Given the description of an element on the screen output the (x, y) to click on. 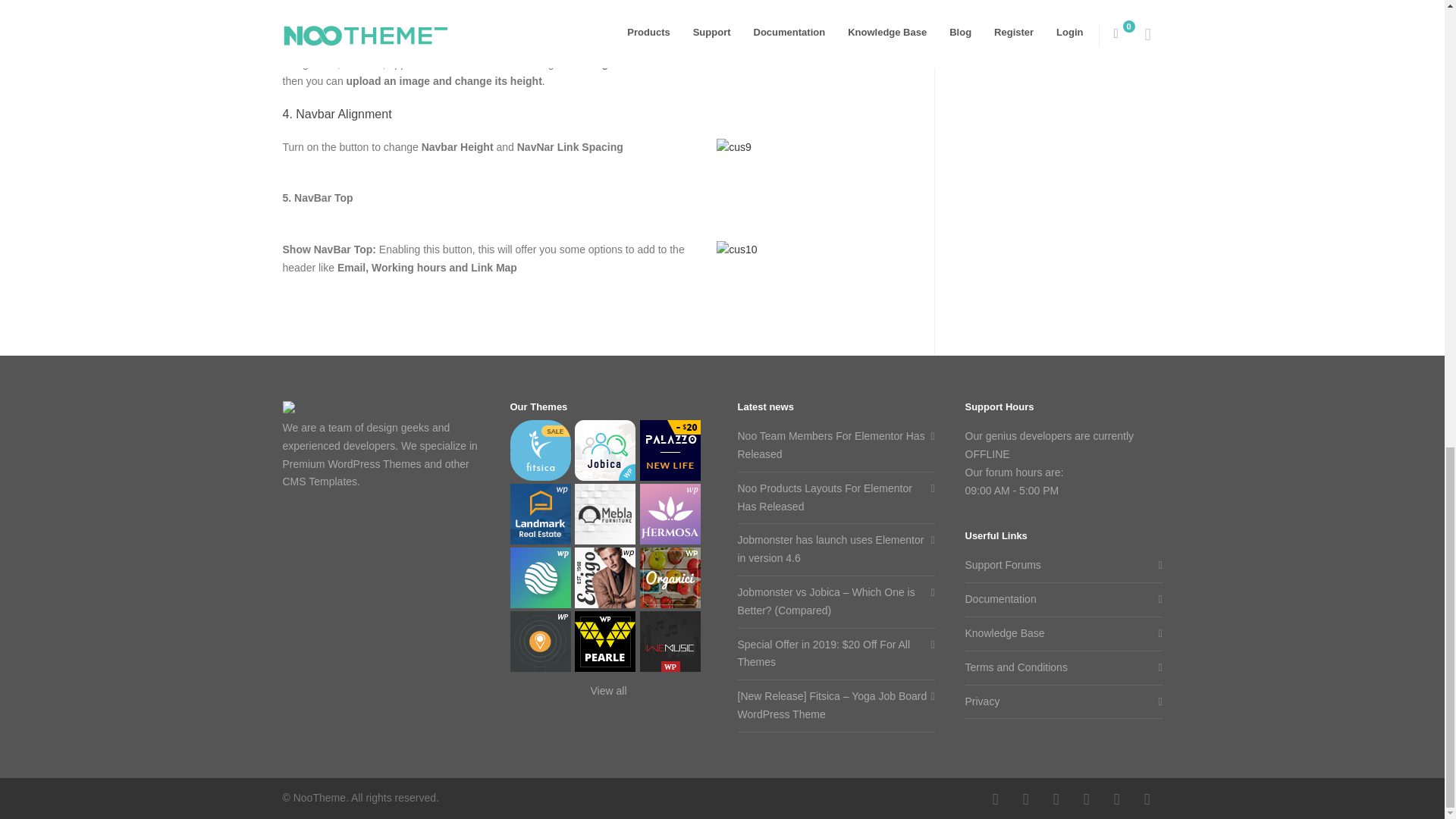
WeMusic - Music Band Event WordPress Theme (670, 644)
Palazzo - Real Estate WordPress Theme (670, 453)
Emigo - Fashion WooCommerce WordPress Theme (604, 580)
Twitter (1115, 798)
iVent - Multipurpose Event WordPress Theme (539, 644)
Mebla - Multi Concept WooCommerce WordPress Theme (604, 517)
Fitsica - Yoga Jobboard WordPress Theme (539, 453)
Dribbble (994, 798)
Pinterest (1085, 798)
Landmark - Real Estate WordPress Theme (539, 517)
Jobica - Elementor IT Job Board WordPress Theme (604, 453)
Visionary - Creative Agency Multipurpose WordPress Theme (539, 580)
Facebook (1025, 798)
